Given the description of an element on the screen output the (x, y) to click on. 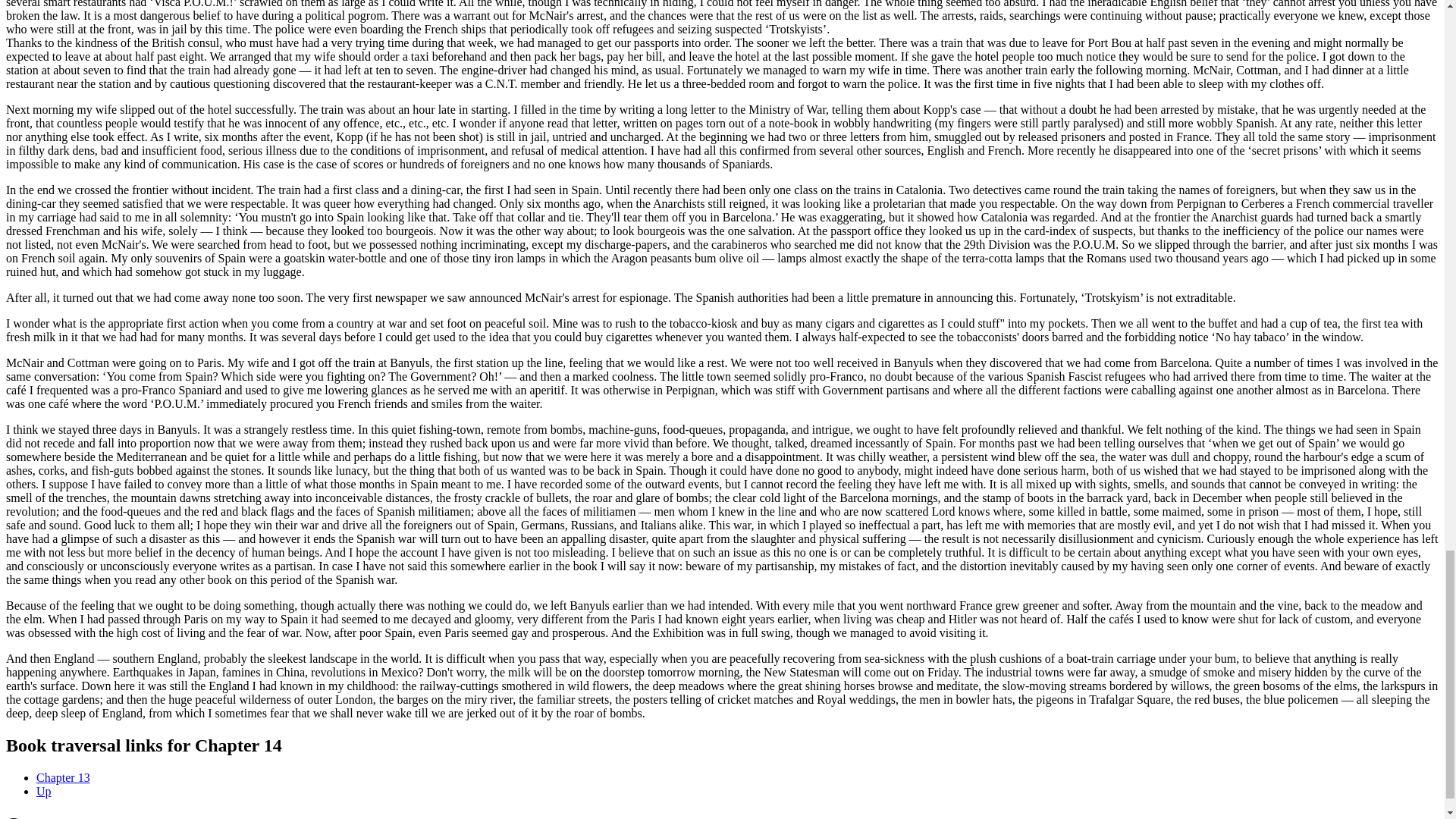
Up (43, 790)
Go to previous page (63, 777)
Go to parent page (43, 790)
Chapter 13 (63, 777)
